Given the description of an element on the screen output the (x, y) to click on. 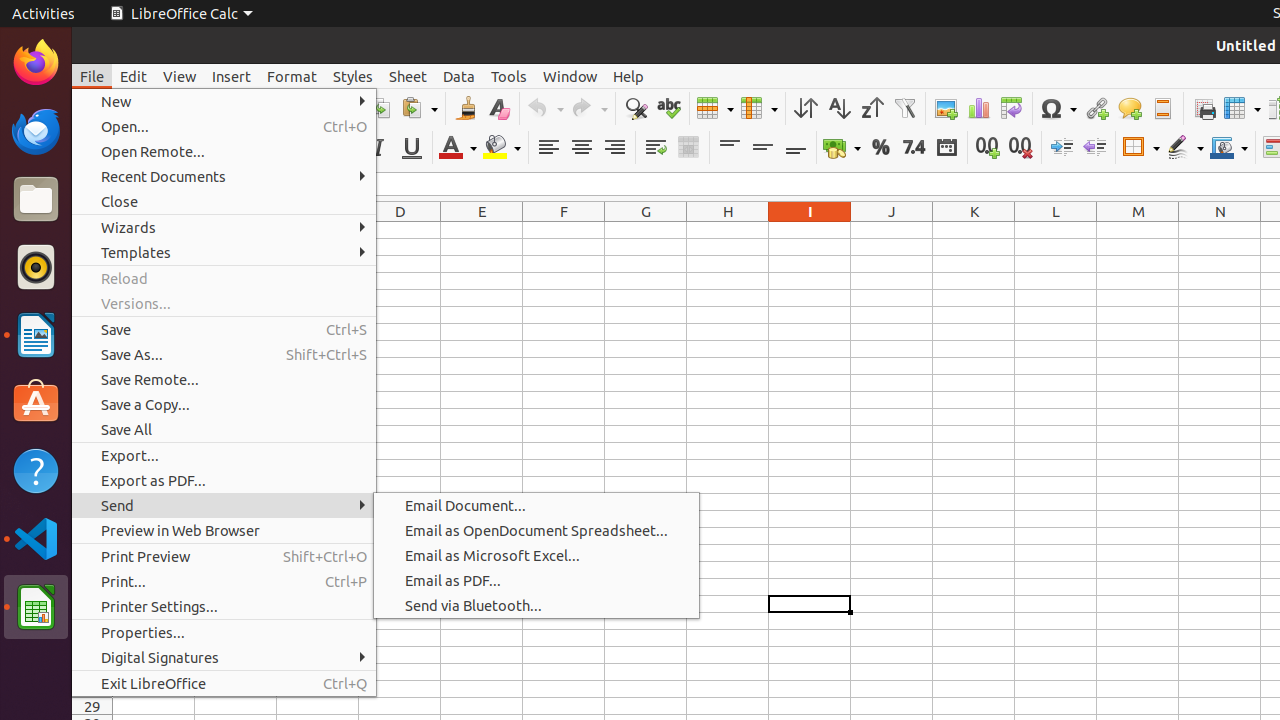
Format Element type: menu (292, 76)
H1 Element type: table-cell (728, 230)
Save a Copy... Element type: menu-item (224, 404)
Delete Decimal Place Element type: push-button (1020, 147)
Clone Element type: push-button (465, 108)
